Given the description of an element on the screen output the (x, y) to click on. 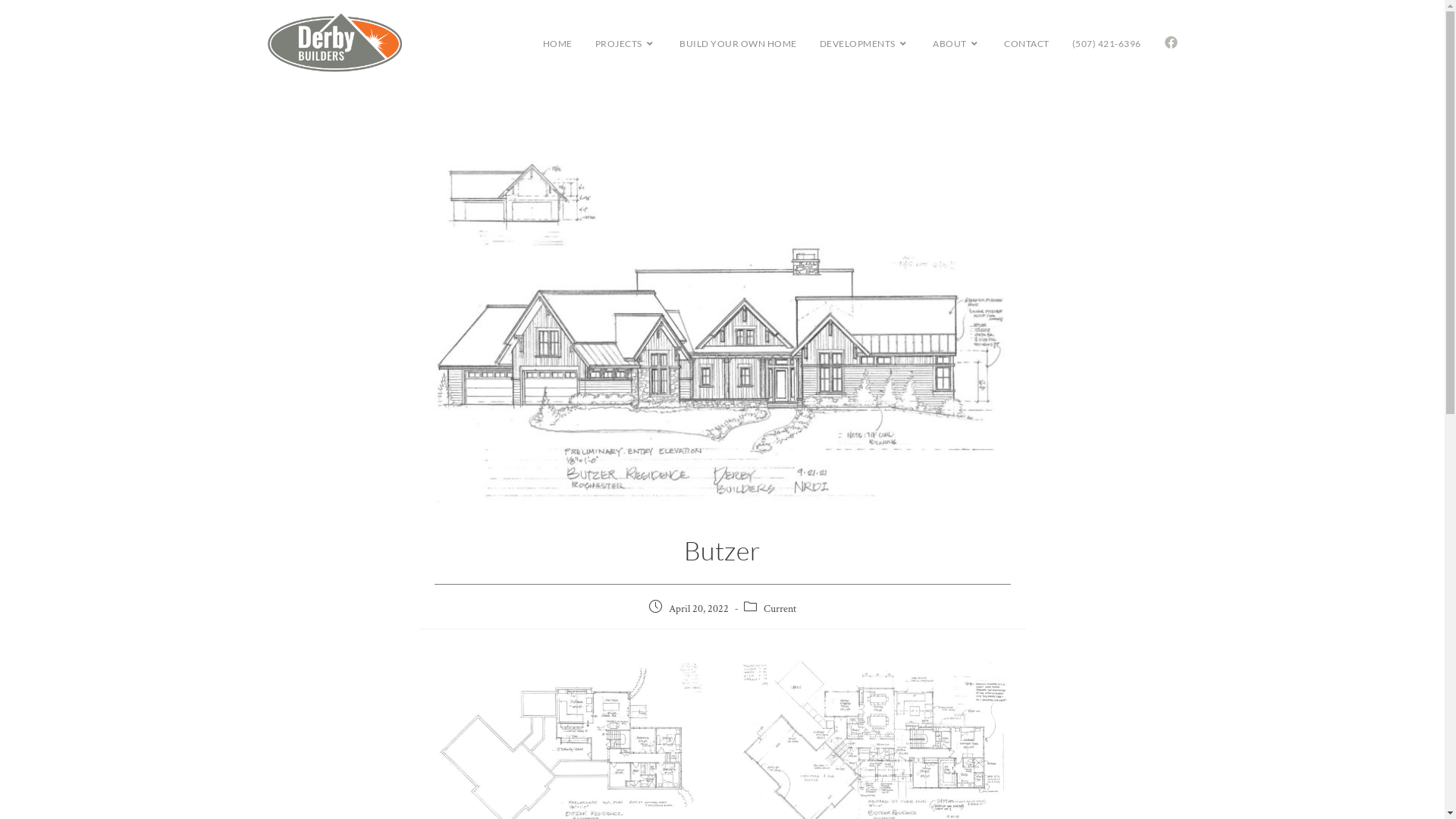
DEVELOPMENTS Element type: text (865, 43)
BUILD YOUR OWN HOME Element type: text (738, 43)
ABOUT Element type: text (956, 43)
PROJECTS Element type: text (625, 43)
(507) 421-6396 Element type: text (1105, 43)
Current Element type: text (778, 608)
CONTACT Element type: text (1026, 43)
HOME Element type: text (556, 43)
